Given the description of an element on the screen output the (x, y) to click on. 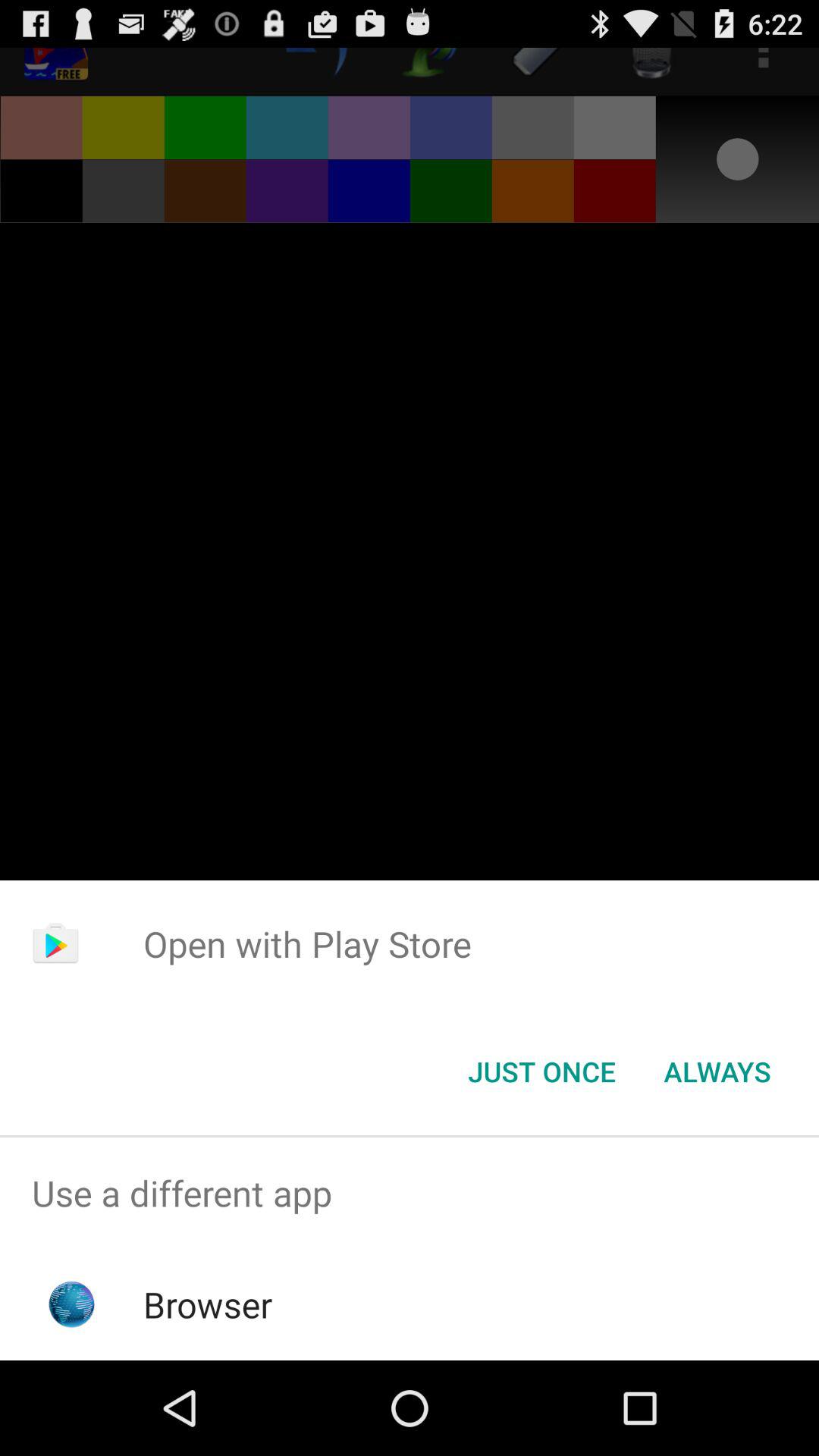
tap icon next to always icon (541, 1071)
